Given the description of an element on the screen output the (x, y) to click on. 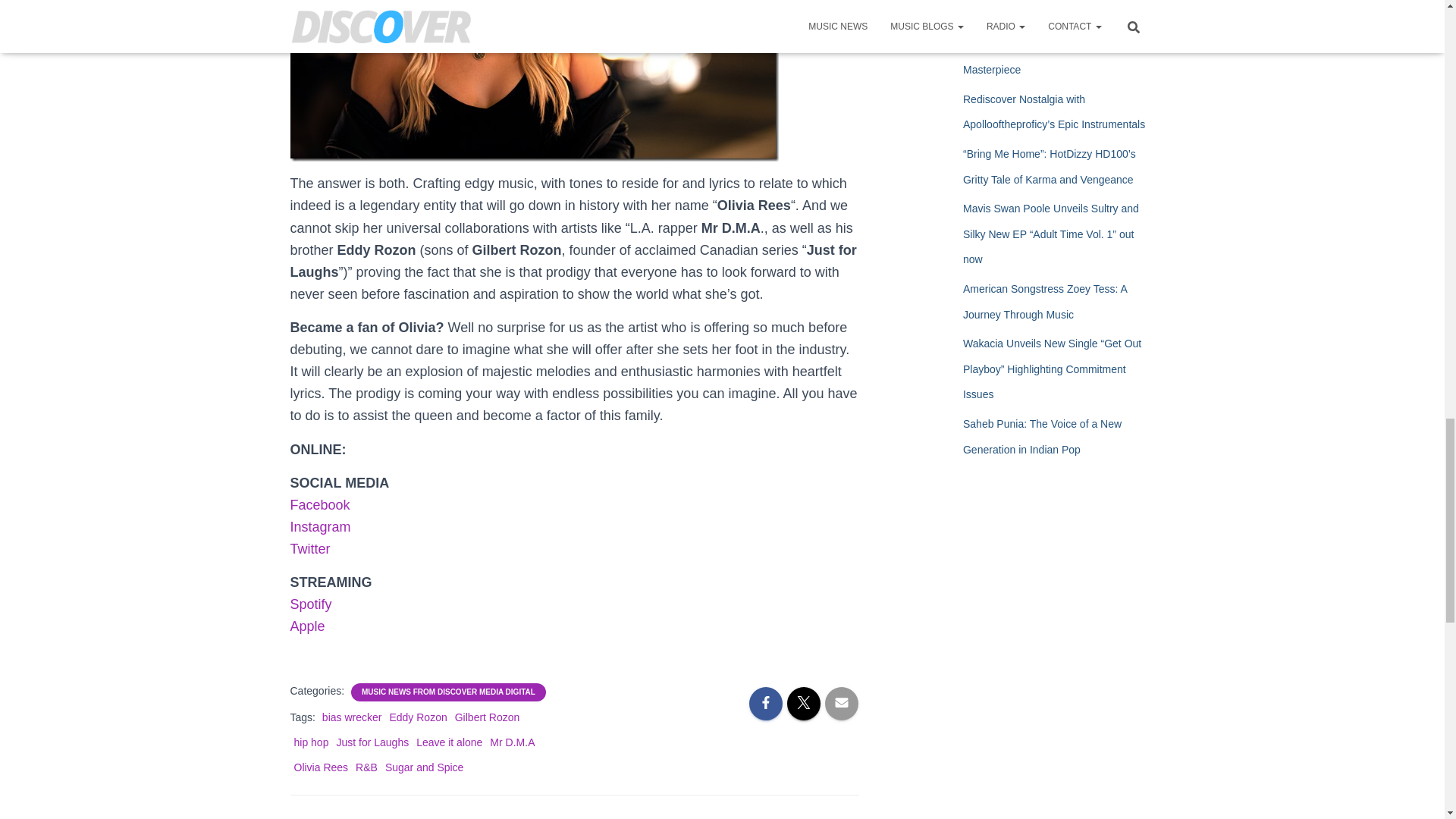
bias wrecker (351, 717)
MUSIC NEWS FROM DISCOVER MEDIA DIGITAL (448, 692)
hip hop (311, 742)
Eddy Rozon (417, 717)
Facebook (319, 504)
Instagram (319, 526)
Spotify (310, 604)
Gilbert Rozon (486, 717)
Twitter (309, 548)
Just for Laughs (372, 742)
